Given the description of an element on the screen output the (x, y) to click on. 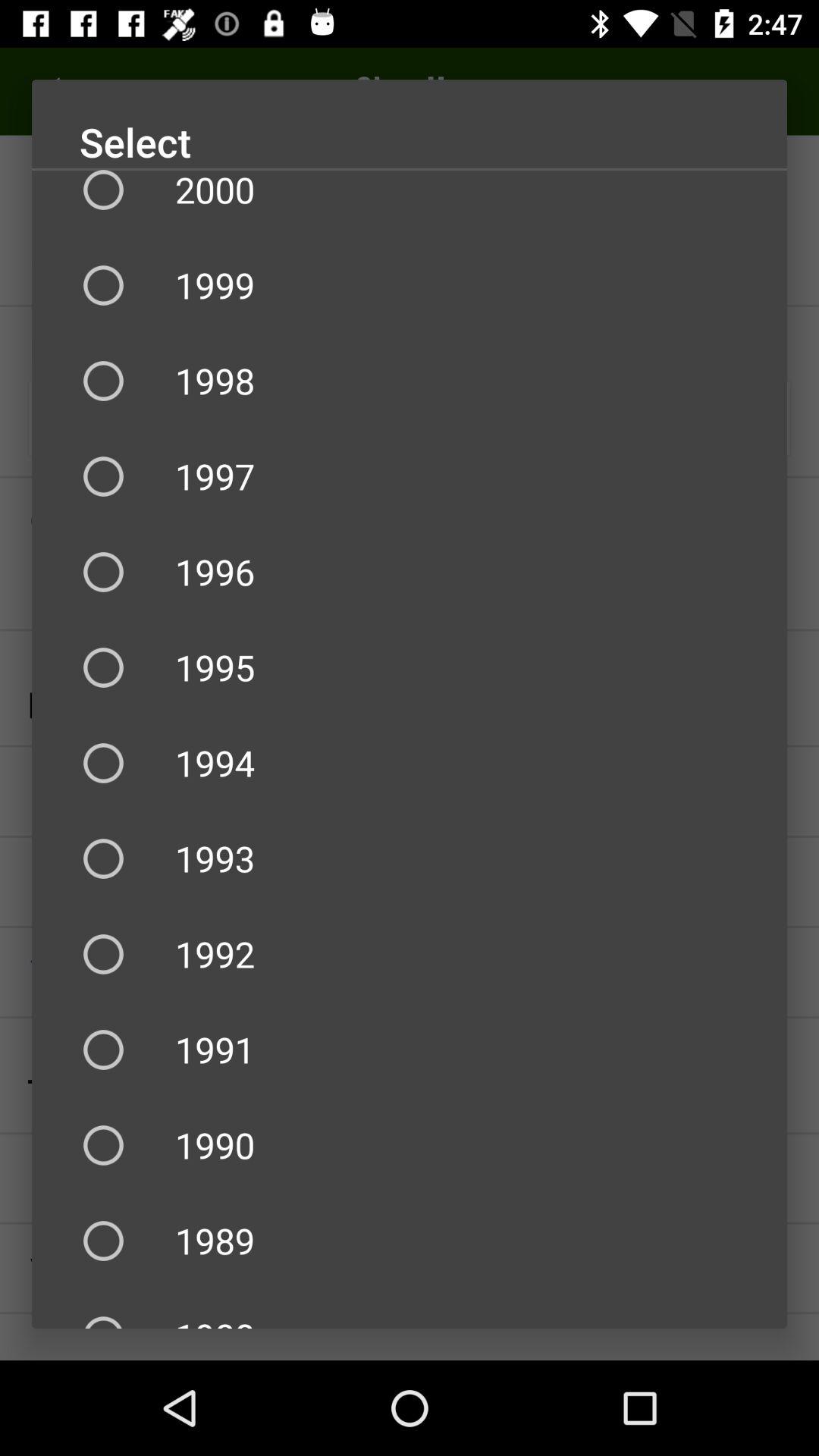
press the item above 1998 (409, 285)
